Given the description of an element on the screen output the (x, y) to click on. 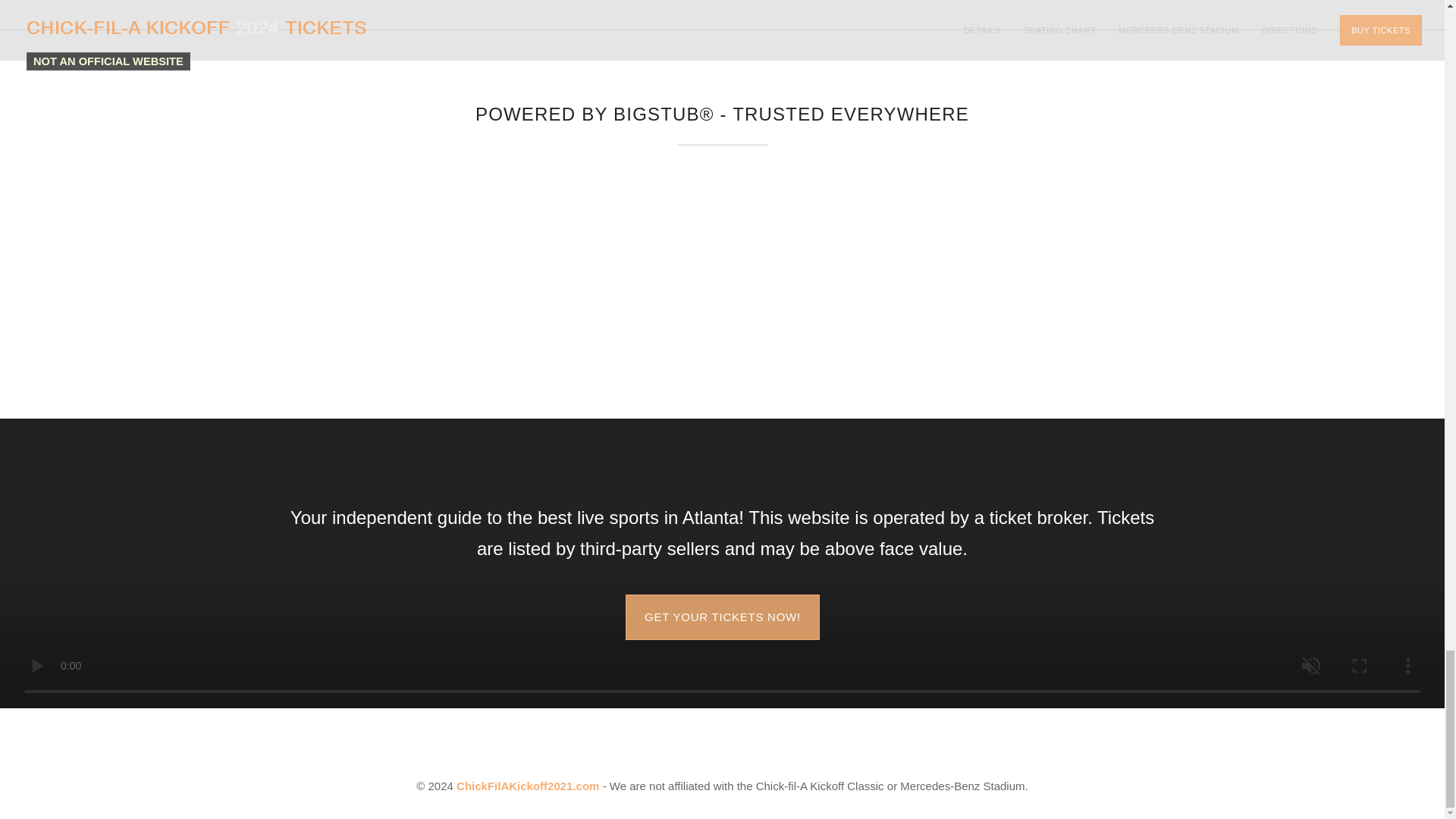
GET YOUR TICKETS NOW! (722, 616)
ChickFilAKickoff2021.com (527, 785)
